Given the description of an element on the screen output the (x, y) to click on. 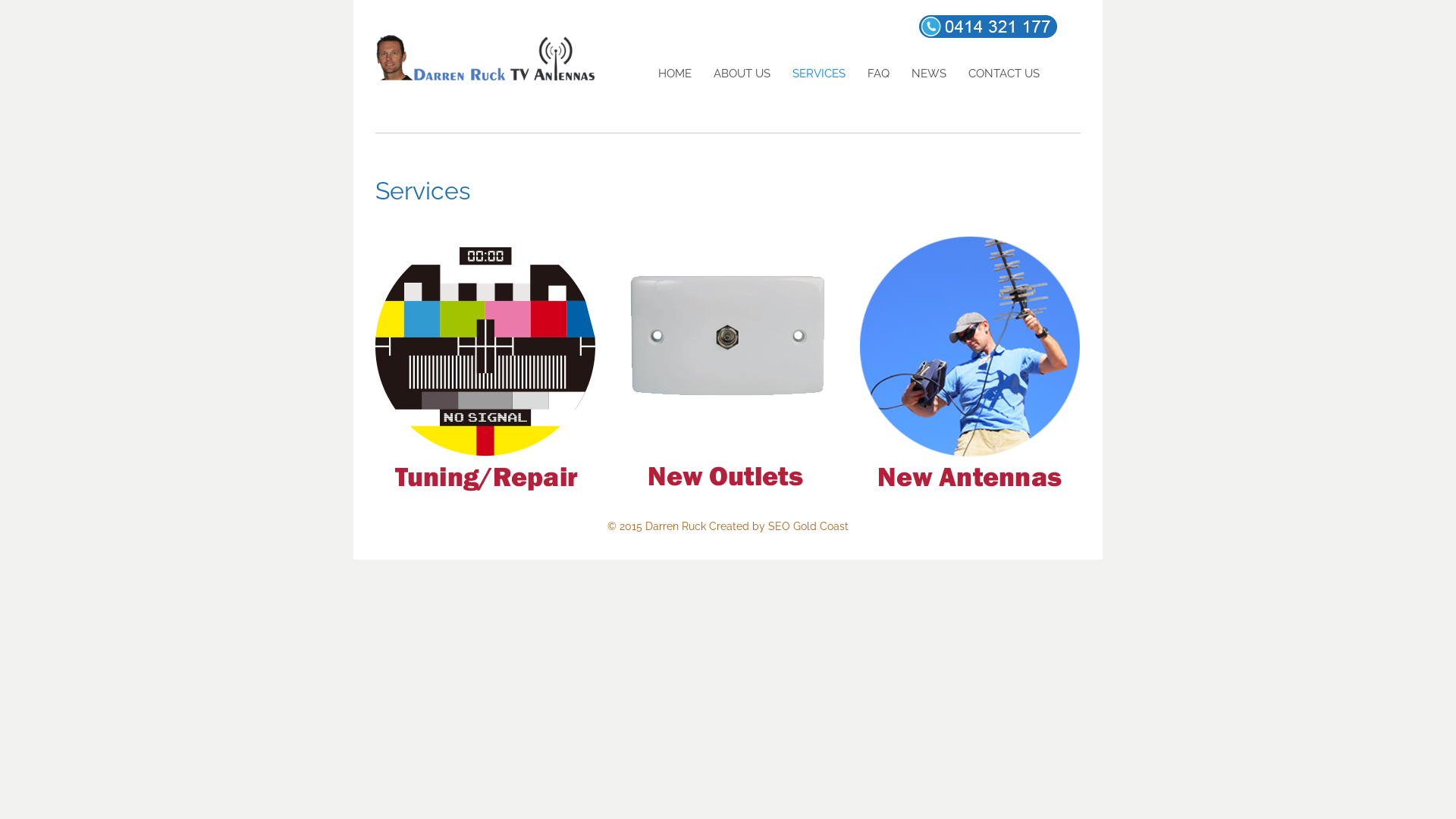
New Antenna Element type: hover (969, 363)
HOME Element type: text (674, 73)
ABOUT US Element type: text (741, 73)
SERVICES Element type: text (818, 73)
SEO Gold Coast Element type: text (808, 526)
NEWS Element type: text (928, 73)
New Outlets Element type: hover (727, 363)
FAQ Element type: text (878, 73)
TV Tuning Repair Element type: hover (485, 363)
CONTACT US Element type: text (1004, 73)
